Given the description of an element on the screen output the (x, y) to click on. 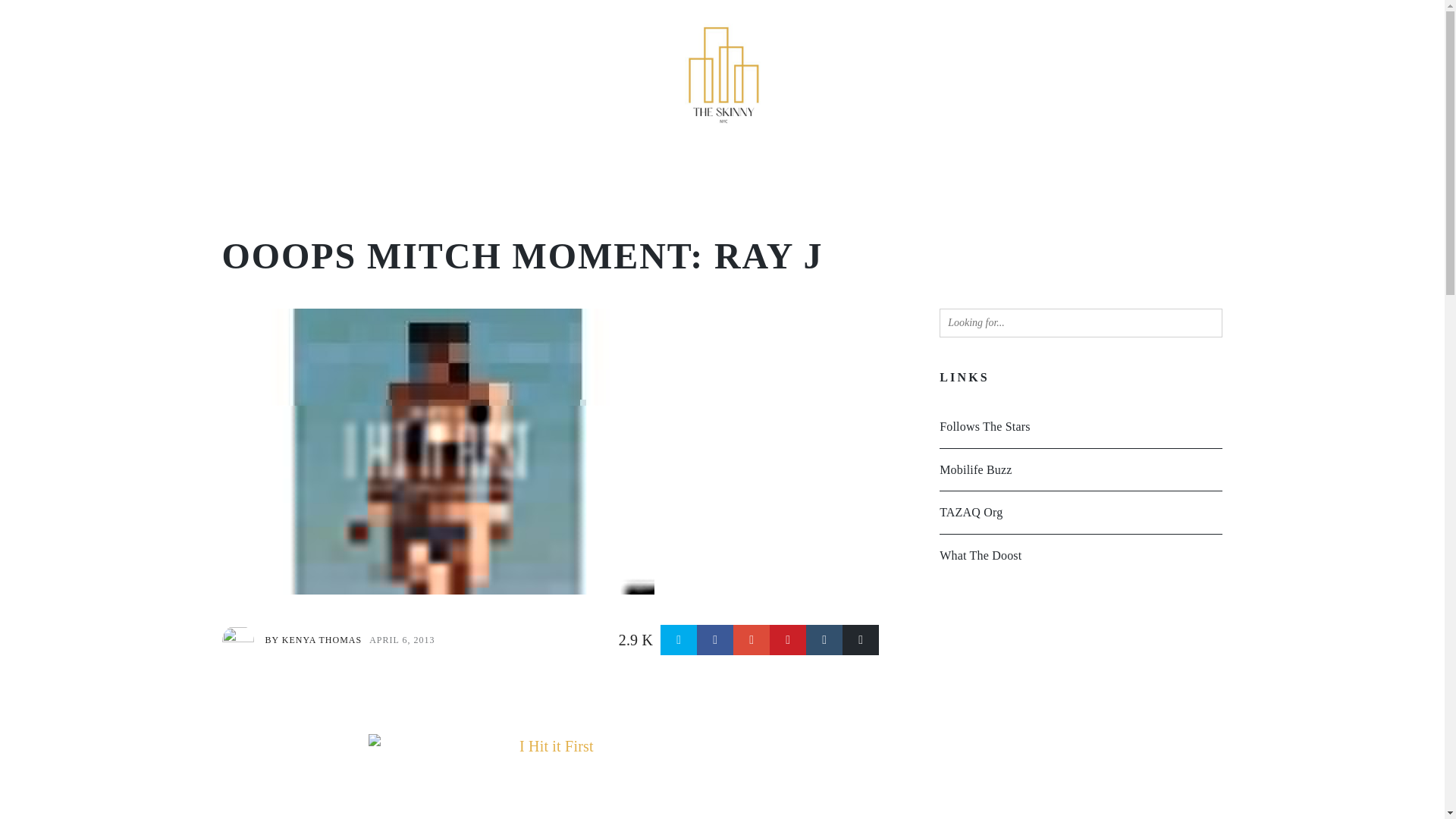
ABOUT US (889, 171)
FASHION (809, 171)
LIFE (533, 171)
KENYA THOMAS (321, 639)
THE SKINNY (459, 171)
CONTACT US (983, 171)
The Skinny NYC (721, 12)
